Given the description of an element on the screen output the (x, y) to click on. 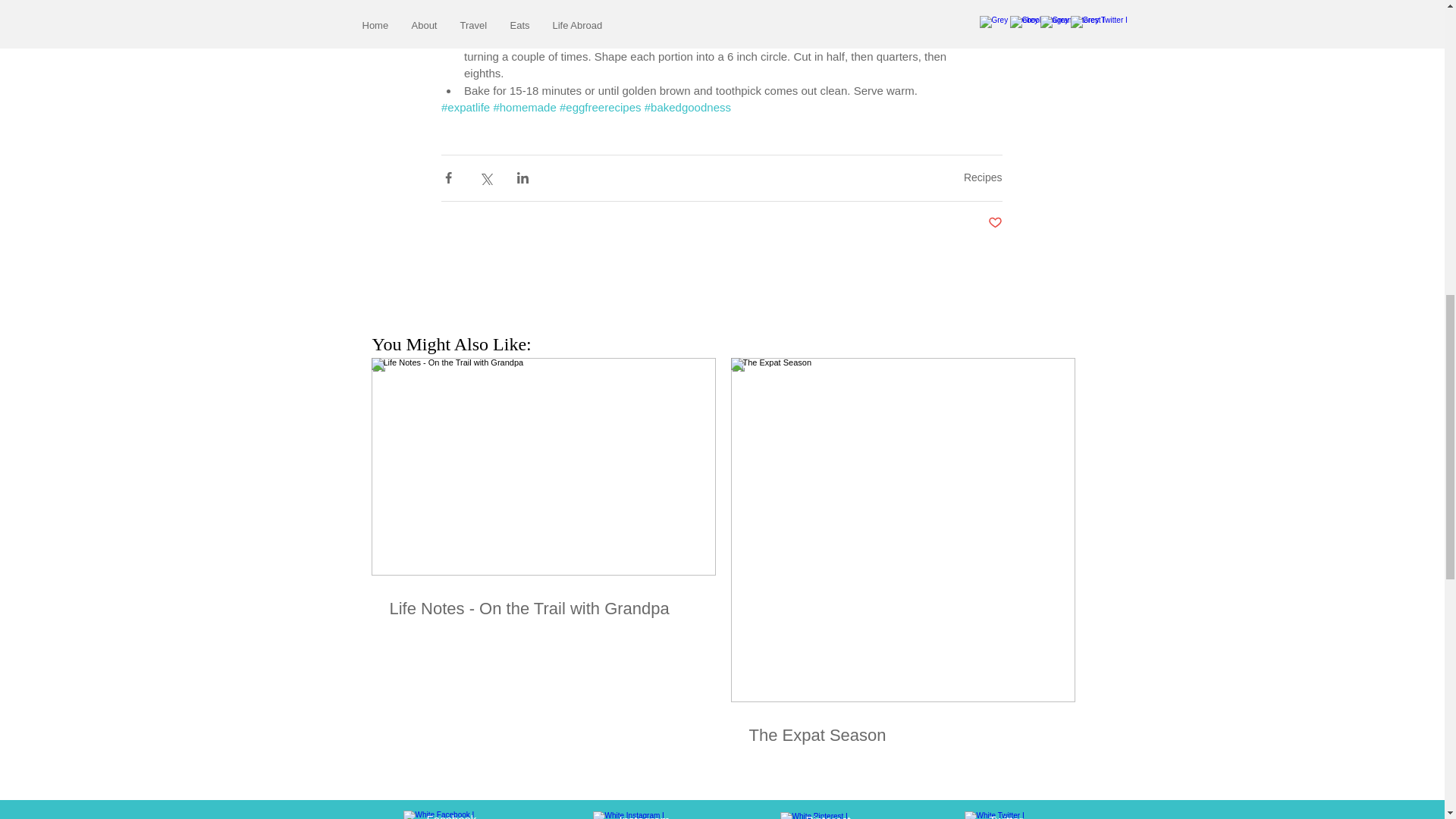
Twitter (1005, 816)
Instagram (643, 816)
Post not marked as liked (994, 222)
Facebook (451, 816)
Recipes (983, 177)
The Expat Season (903, 734)
Pinte (818, 816)
rest (840, 816)
Life Notes - On the Trail with Grandpa (543, 608)
